Given the description of an element on the screen output the (x, y) to click on. 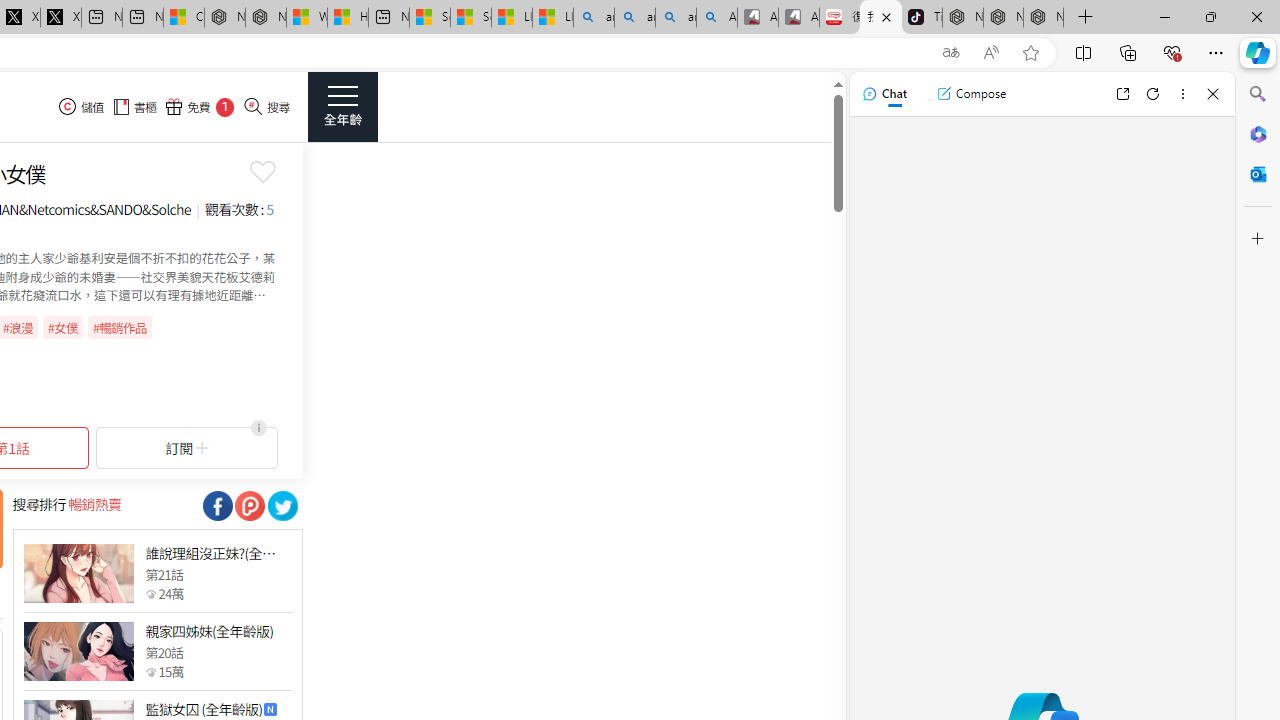
More options (1182, 93)
Microsoft 365 (1258, 133)
amazon - Search Images (675, 17)
X (60, 17)
Customize (1258, 239)
Show translate options (950, 53)
